Given the description of an element on the screen output the (x, y) to click on. 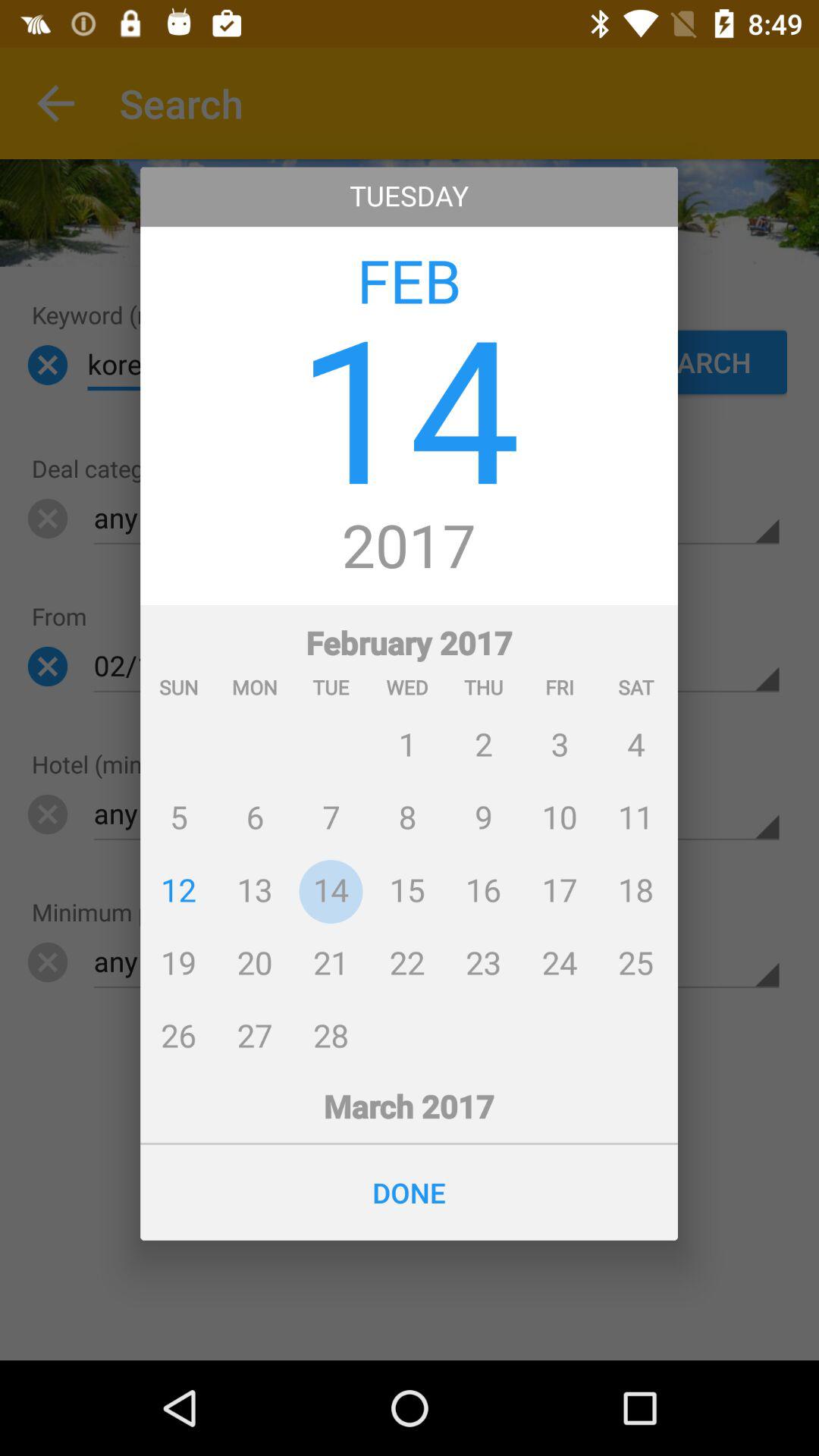
click the 2017 (408, 547)
